Given the description of an element on the screen output the (x, y) to click on. 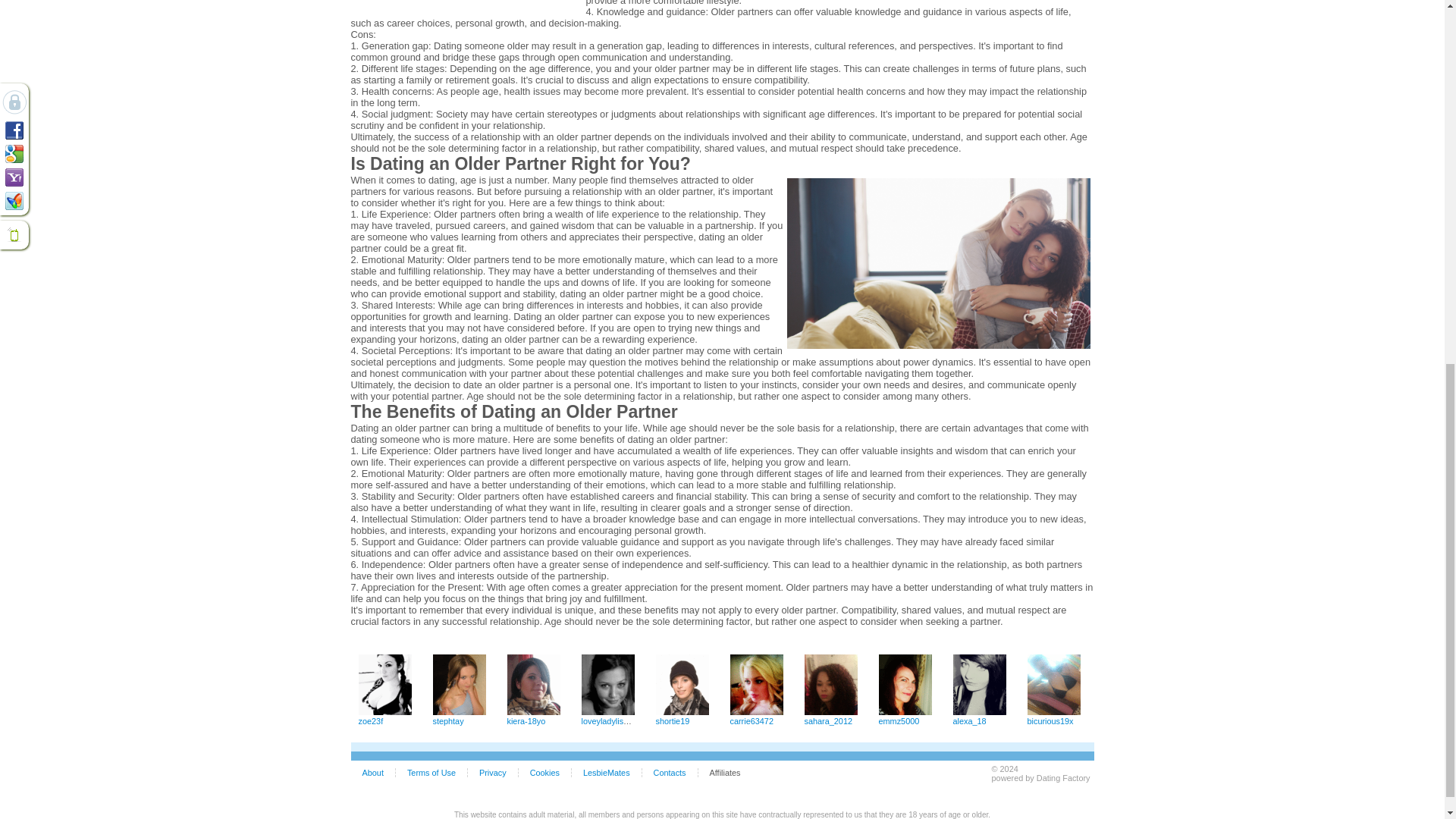
carrie63472 (756, 711)
shortie19 (681, 711)
kiera-18yo (525, 720)
carrie63472 (751, 720)
loveyladylisa69 (606, 711)
stephtay (447, 720)
zoe23f (370, 720)
stephtay (447, 720)
loveyladylisa69 (608, 720)
shortie19 (671, 720)
zoe23f (370, 720)
zoe23f (384, 711)
stephtay (458, 711)
kiera-18yo (532, 711)
